Given the description of an element on the screen output the (x, y) to click on. 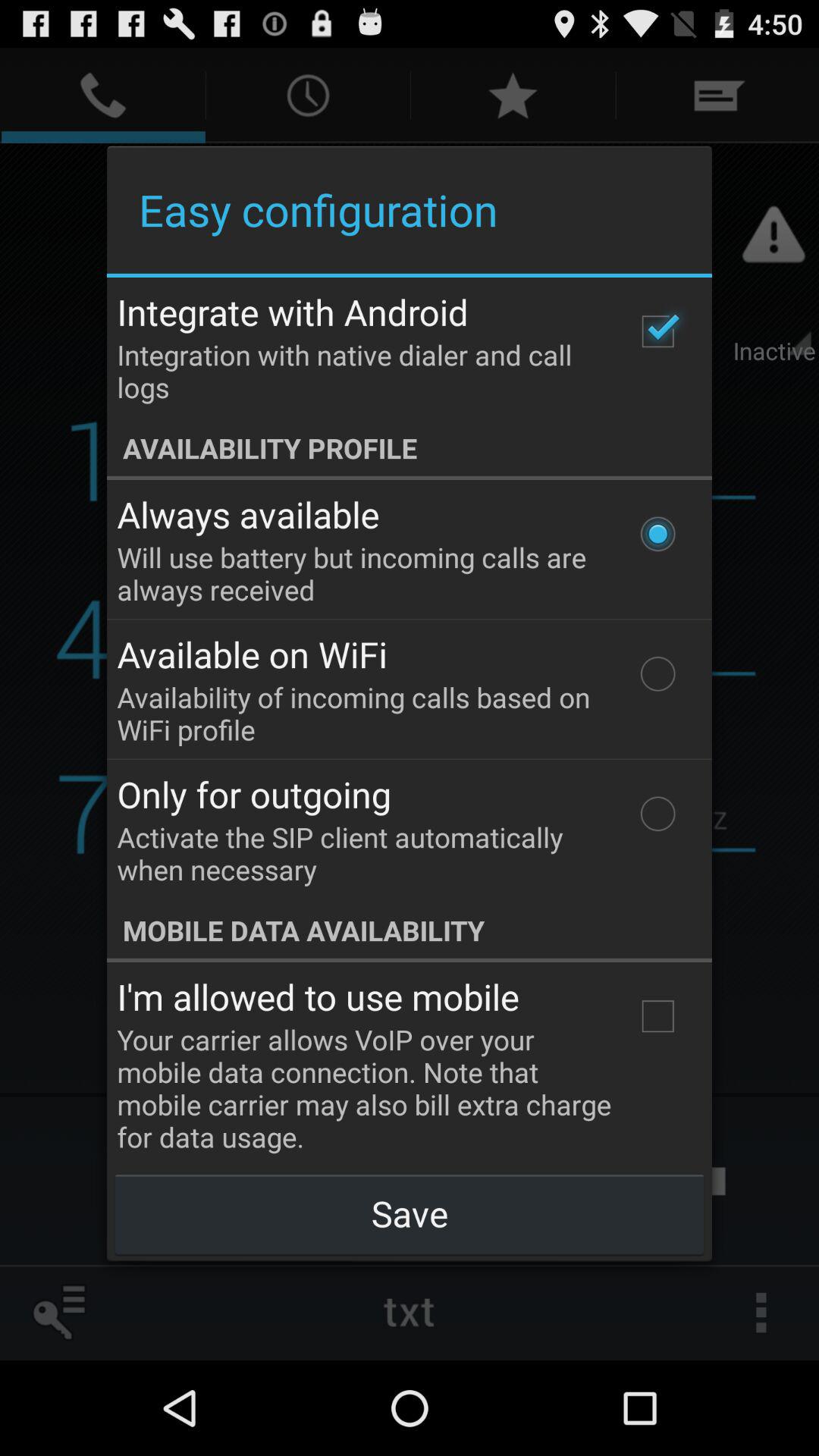
click checkbox at the top right corner (657, 331)
